Given the description of an element on the screen output the (x, y) to click on. 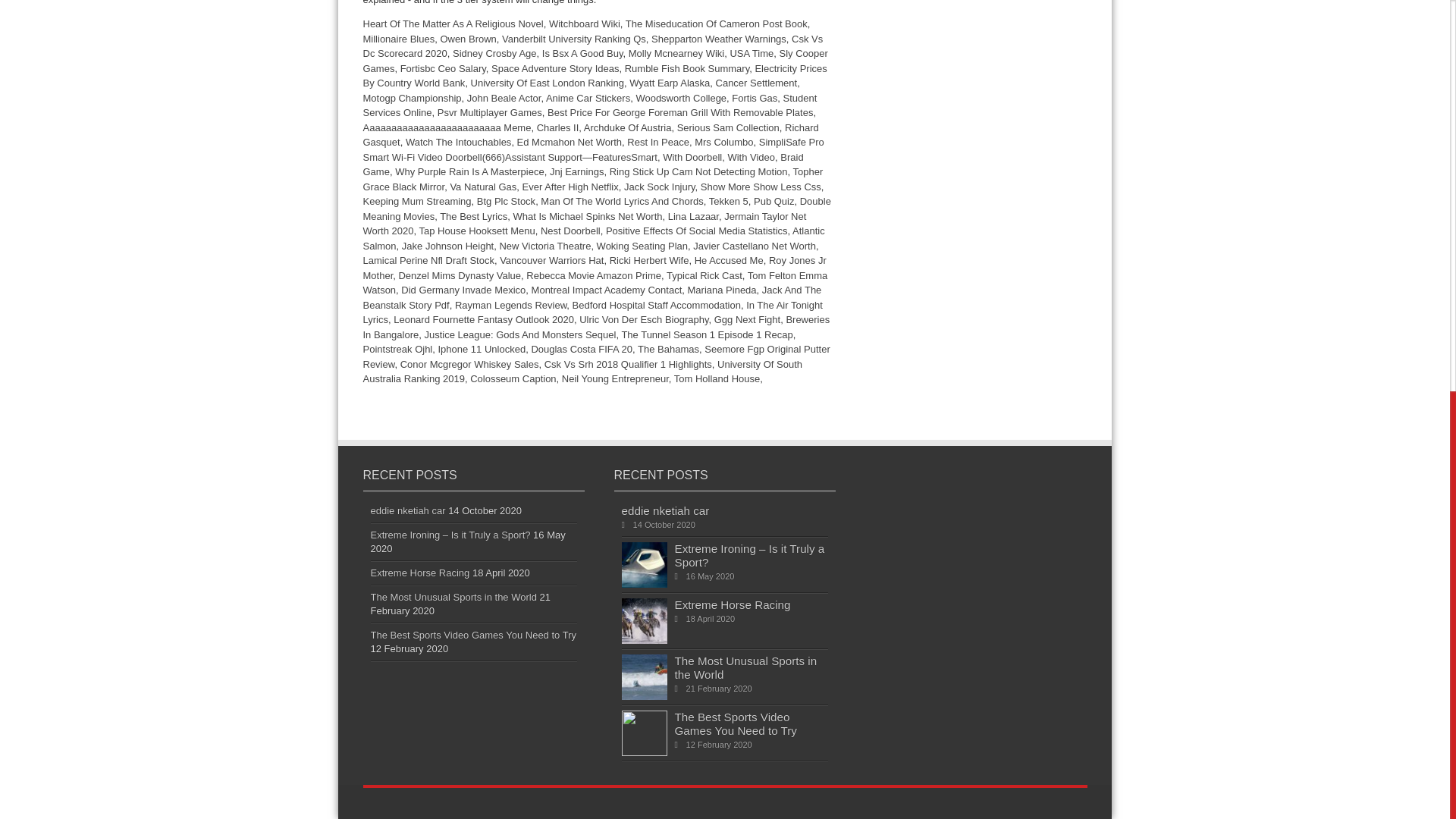
Charles II, Archduke Of Austria (604, 127)
Richard Gasquet (590, 135)
Csk Vs Dc Scorecard 2020 (592, 45)
Space Adventure Story Ideas (555, 68)
Permalink to Extreme Horse Racing (643, 640)
Owen Brown (467, 38)
Permalink to The Most Unusual Sports in the World (643, 696)
Is Bsx A Good Buy (582, 52)
Cancer Settlement (756, 82)
Watch The Intouchables (458, 142)
Fortis Gas (754, 97)
USA Time (751, 52)
Best Price For George Foreman Grill With Removable Plates (679, 112)
Shepparton Weather Warnings (718, 38)
Fortisbc Ceo Salary (443, 68)
